Given the description of an element on the screen output the (x, y) to click on. 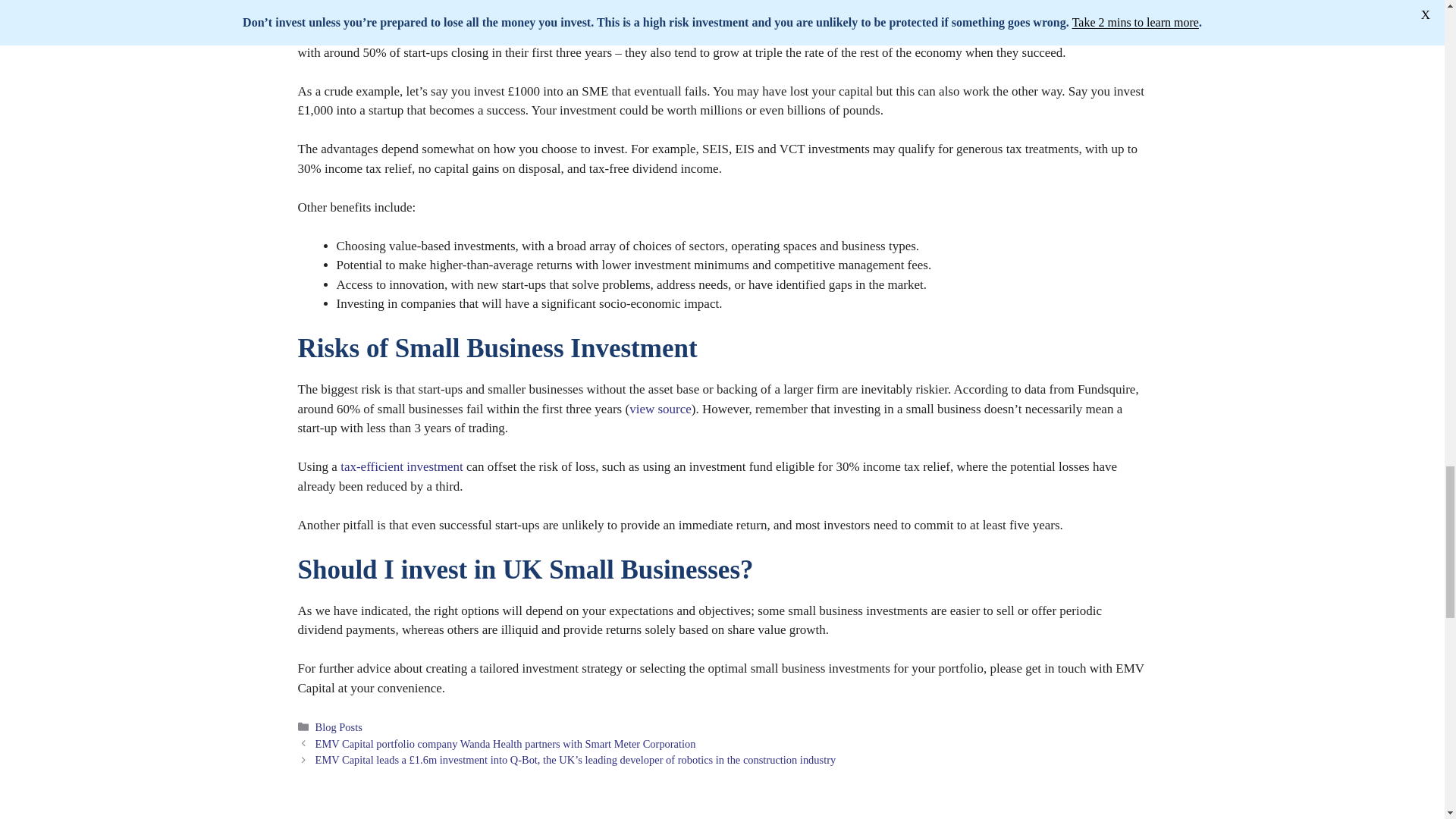
tax-efficient investment (402, 466)
view source (659, 409)
Blog Posts (338, 727)
